Given the description of an element on the screen output the (x, y) to click on. 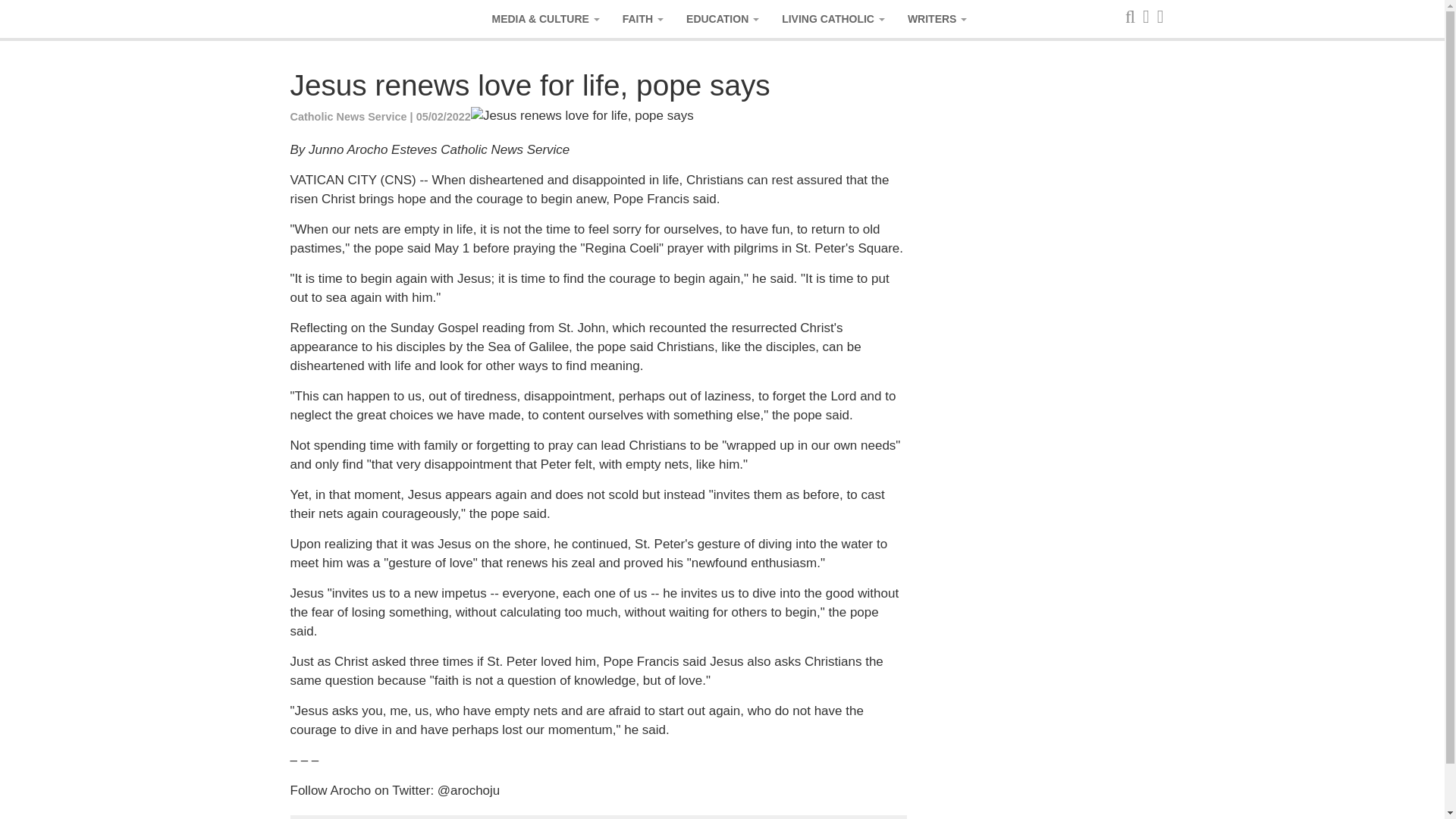
FAITH (643, 18)
EDUCATION (722, 18)
LIVING CATHOLIC (833, 18)
WRITERS (937, 18)
